Given the description of an element on the screen output the (x, y) to click on. 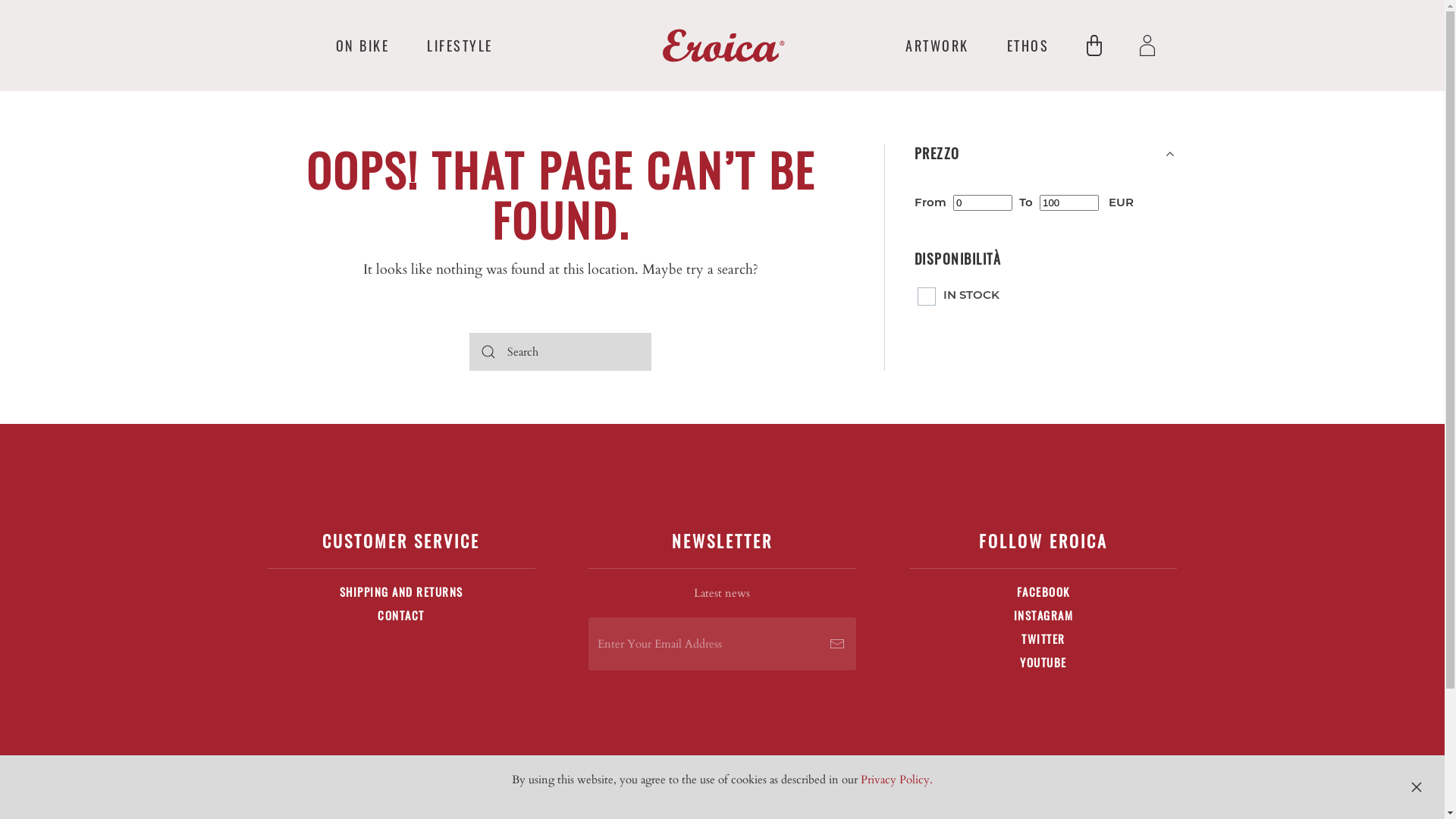
ETHOS Element type: text (1028, 45)
ON BIKE Element type: text (362, 45)
FACEBOOK Element type: text (1043, 591)
IN STOCK Element type: text (959, 294)
ARTWORK Element type: text (937, 45)
Privacy Policy. Element type: text (896, 779)
TWITTER Element type: text (1043, 638)
INSTAGRAM Element type: text (1043, 614)
CONTACT Element type: text (400, 614)
SHIPPING AND RETURNS Element type: text (400, 591)
Subscribe Element type: hover (837, 643)
YOUTUBE Element type: text (1042, 661)
LIFESTYLE Element type: text (459, 45)
